Given the description of an element on the screen output the (x, y) to click on. 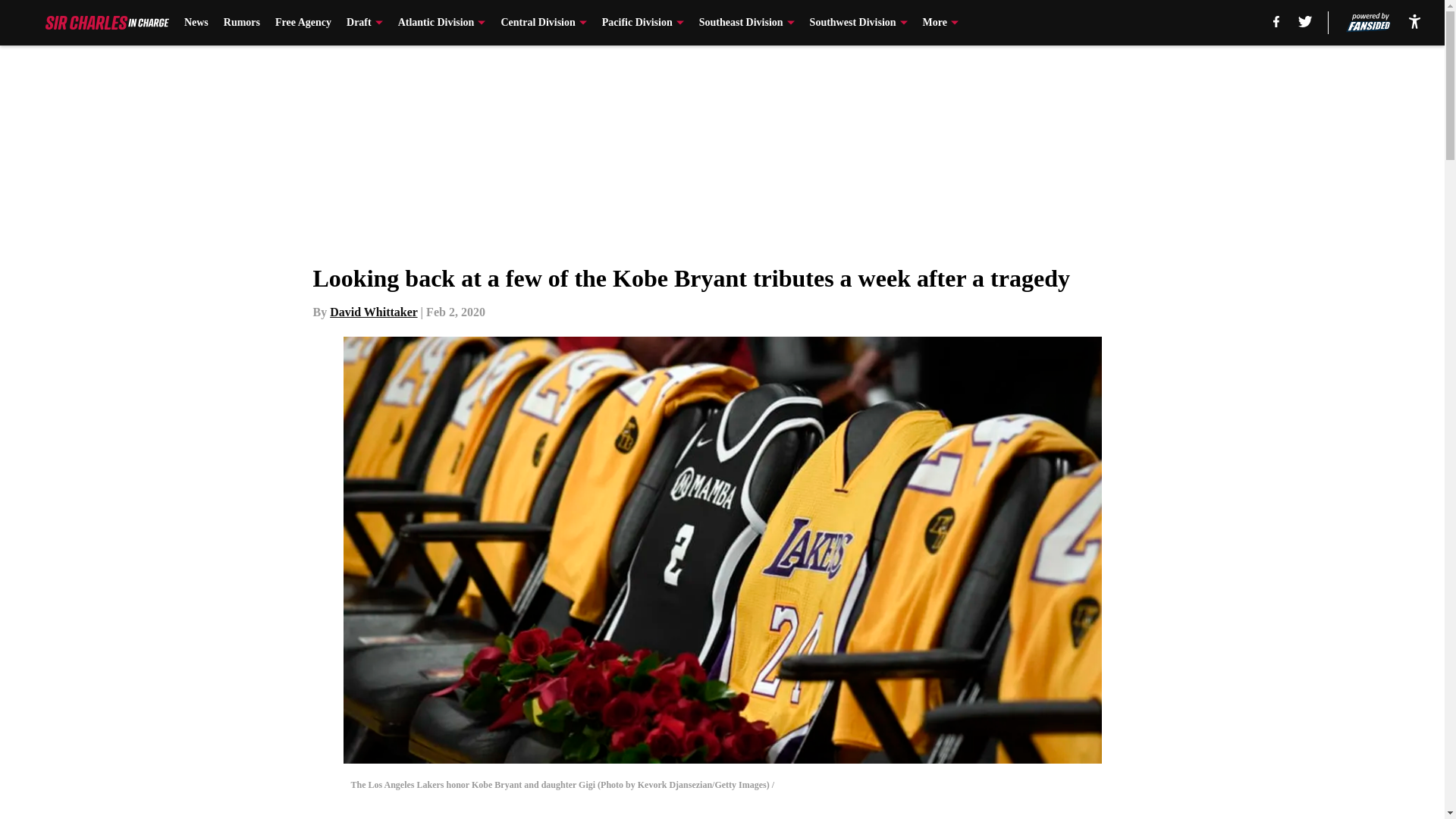
Southeast Division (746, 22)
Pacific Division (643, 22)
Draft (364, 22)
Free Agency (303, 22)
Rumors (242, 22)
Atlantic Division (441, 22)
Central Division (543, 22)
News (196, 22)
